Given the description of an element on the screen output the (x, y) to click on. 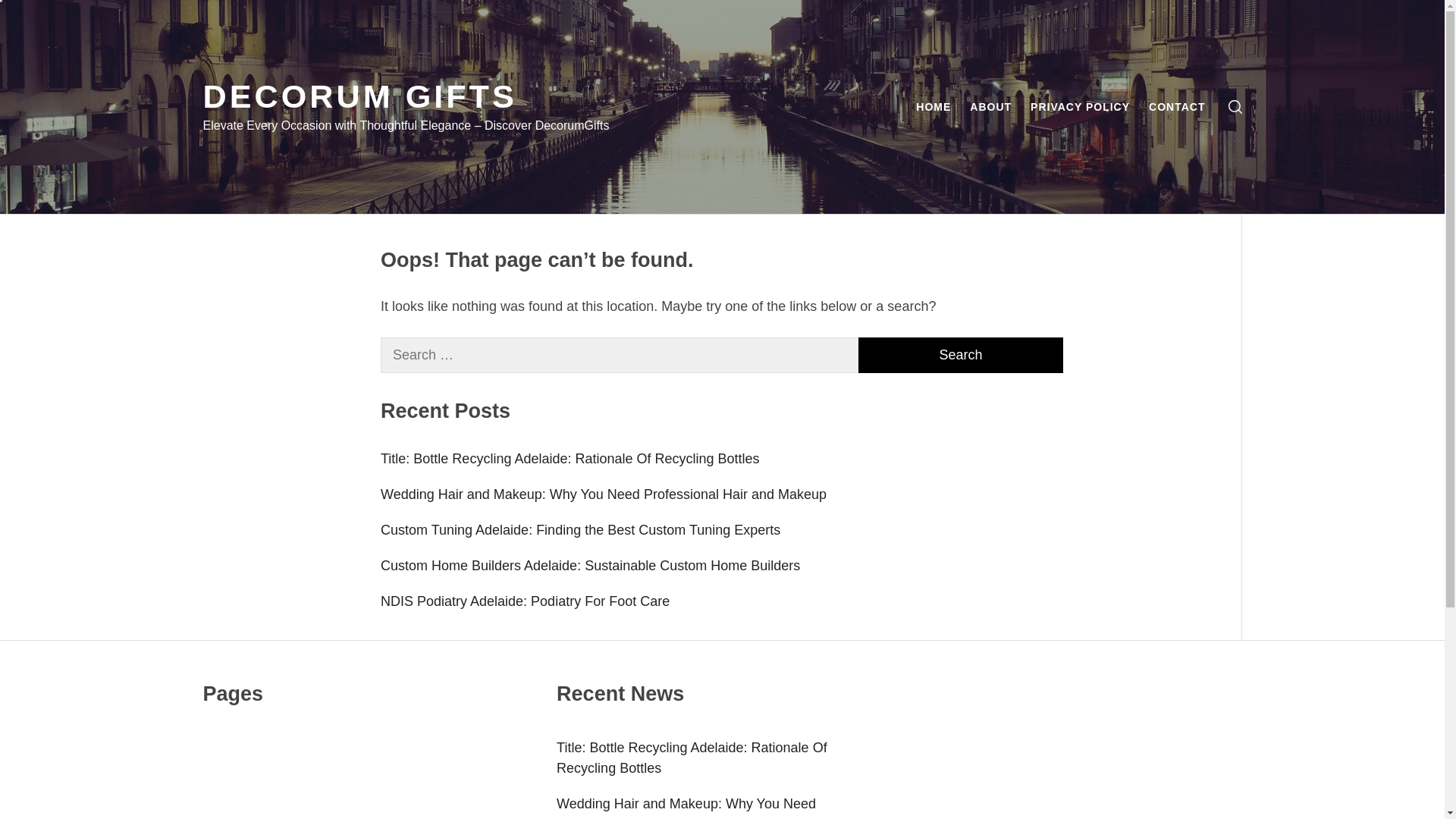
ABOUT Element type: text (990, 106)
PRIVACY POLICY Element type: text (1079, 106)
CONTACT Element type: text (1176, 106)
Search Element type: text (960, 354)
Search Element type: text (797, 409)
DECORUM GIFTS Element type: text (360, 96)
HOME Element type: text (933, 106)
NDIS Podiatry Adelaide: Podiatry For Foot Care Element type: text (721, 601)
